Given the description of an element on the screen output the (x, y) to click on. 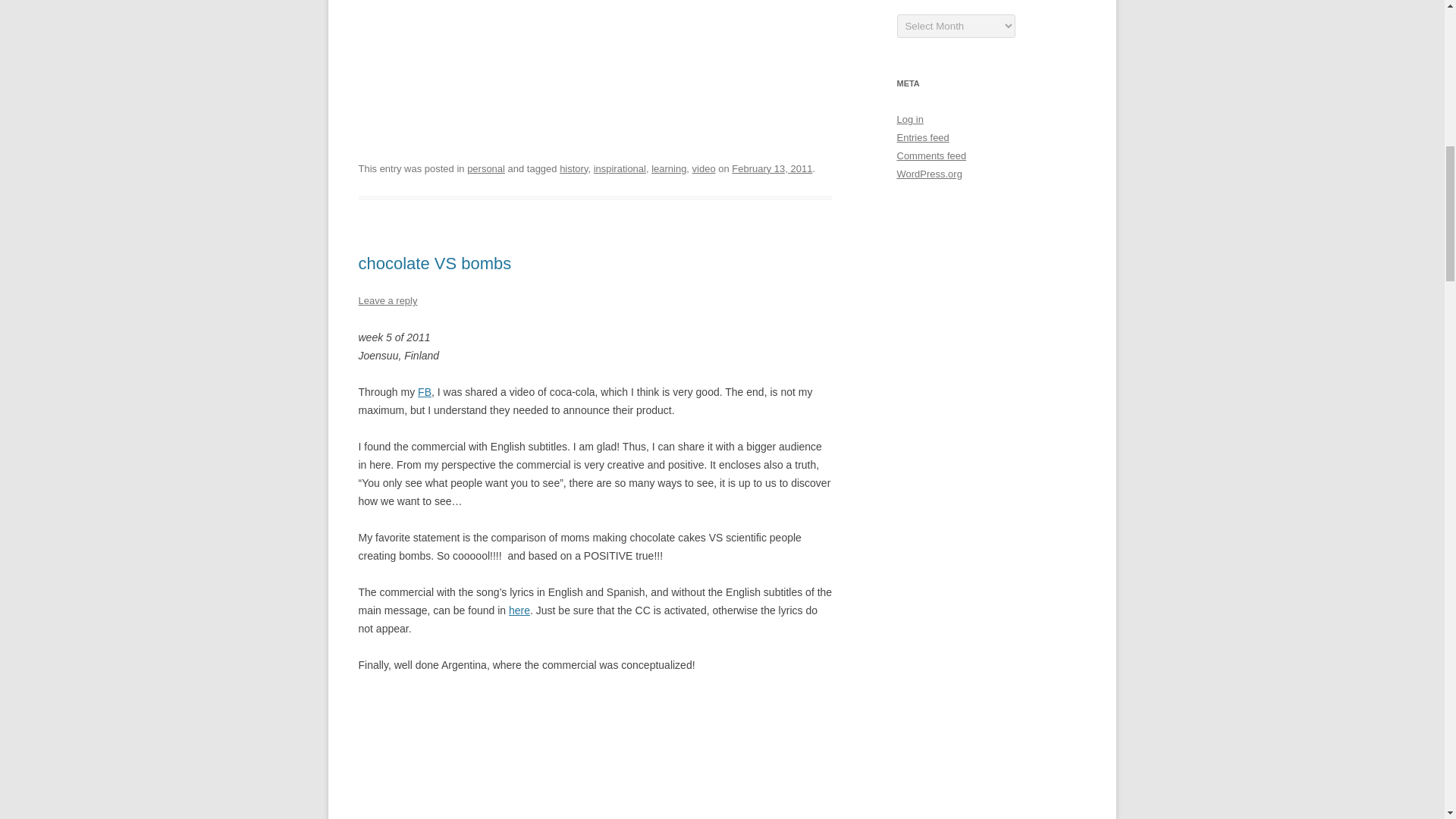
learning (667, 168)
inspirational (620, 168)
history (573, 168)
chocolate VS bombs (434, 262)
personal (486, 168)
video (704, 168)
Leave a reply (387, 300)
February 13, 2011 (772, 168)
here (518, 610)
FB (423, 391)
